Given the description of an element on the screen output the (x, y) to click on. 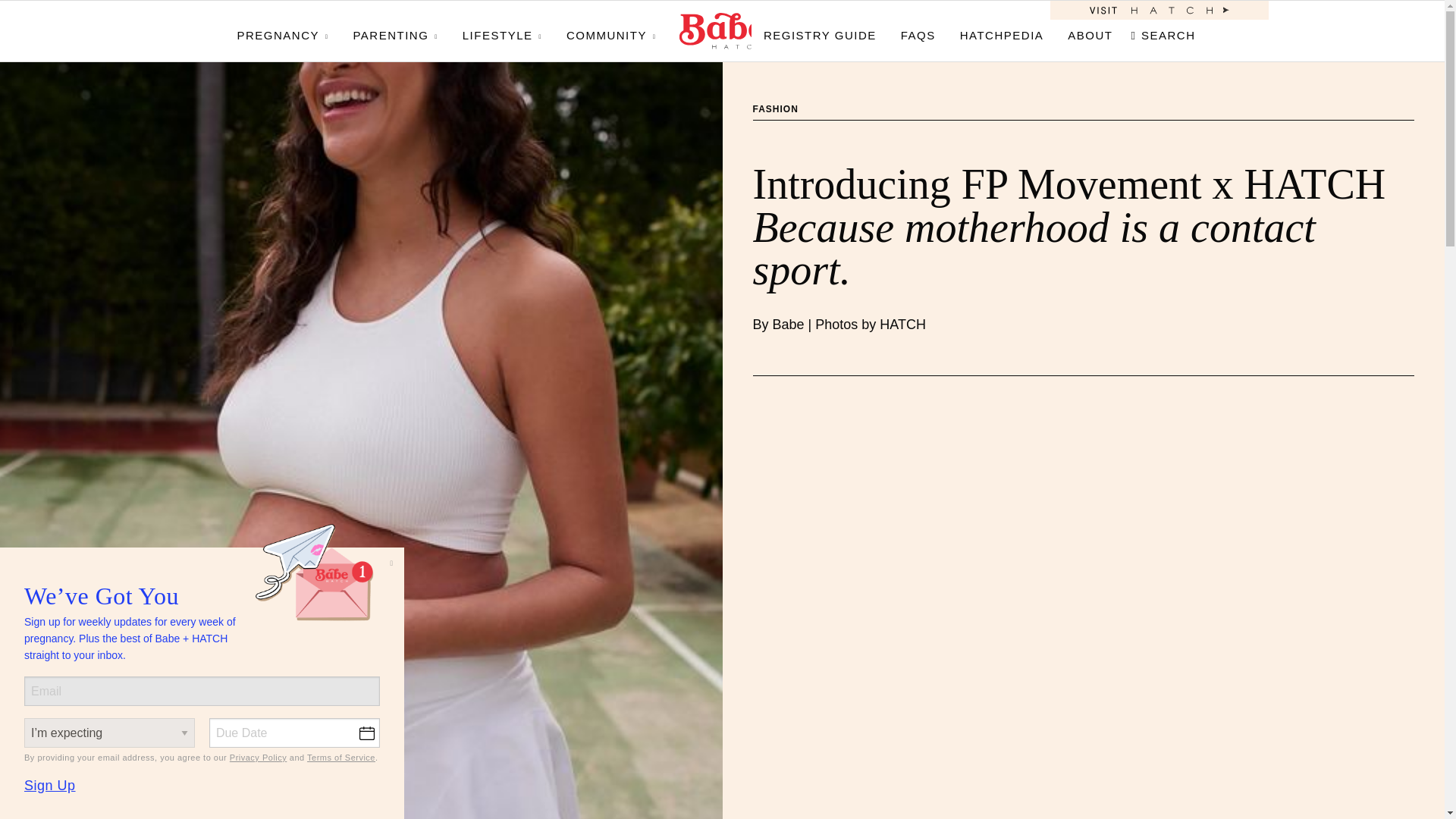
Home Page (721, 31)
COMMUNITY (611, 30)
PARENTING (394, 30)
SEARCH (1166, 30)
HATCHPEDIA (1002, 30)
REGISTRY GUIDE (819, 30)
ABOUT (1089, 30)
PREGNANCY (287, 30)
FAQS (917, 30)
FASHION (774, 109)
LIFESTYLE (501, 30)
